Given the description of an element on the screen output the (x, y) to click on. 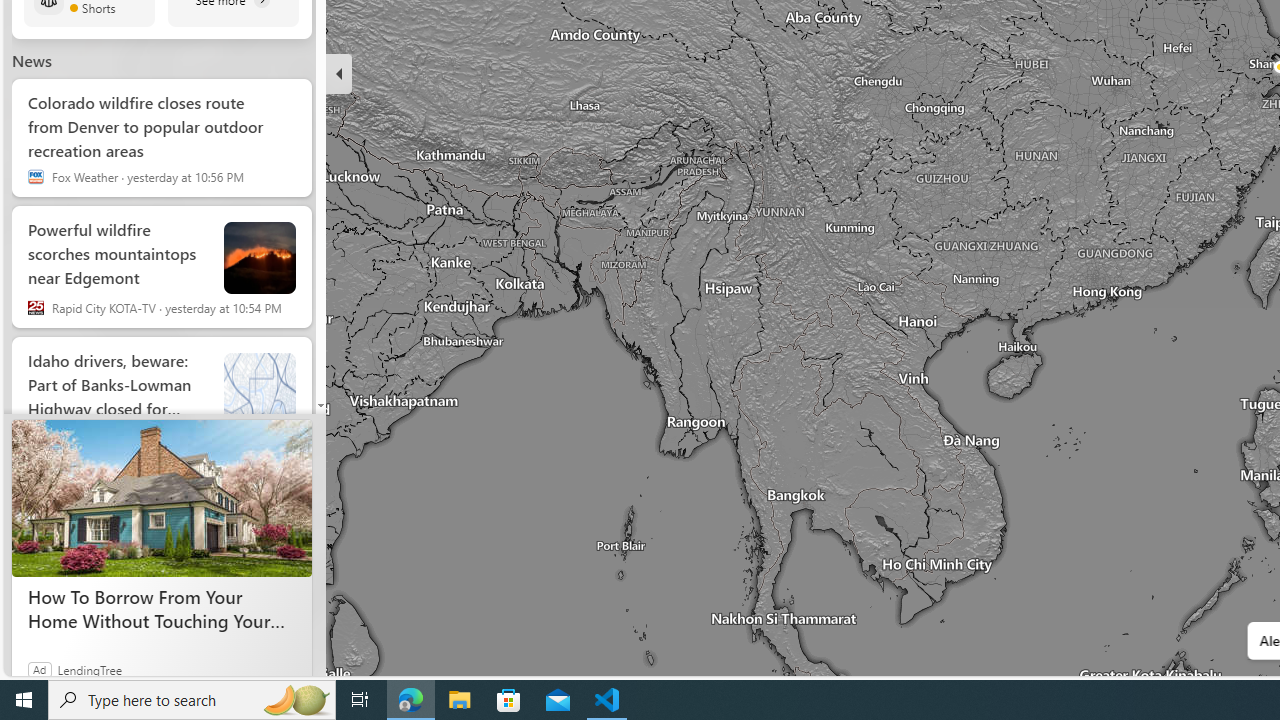
Powerful wildfire scorches mountaintops near Edgemont (117, 249)
Fox Weather (35, 177)
Powerful wildfire scorches mountaintops near Edgemont (259, 257)
Hide (339, 73)
Rapid City KOTA-TV (35, 308)
